Given the description of an element on the screen output the (x, y) to click on. 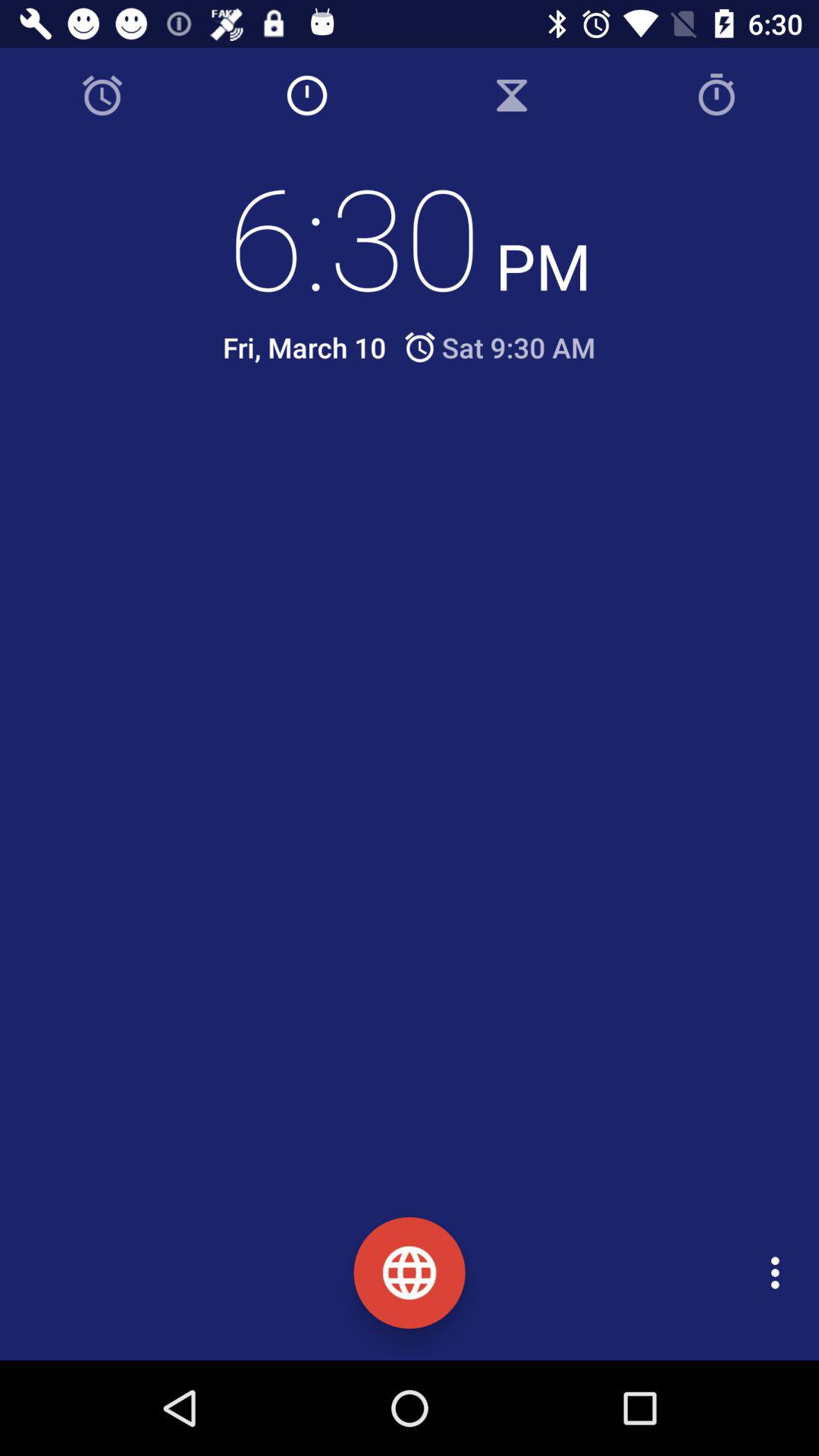
scroll to the sat 9 30 item (498, 347)
